Given the description of an element on the screen output the (x, y) to click on. 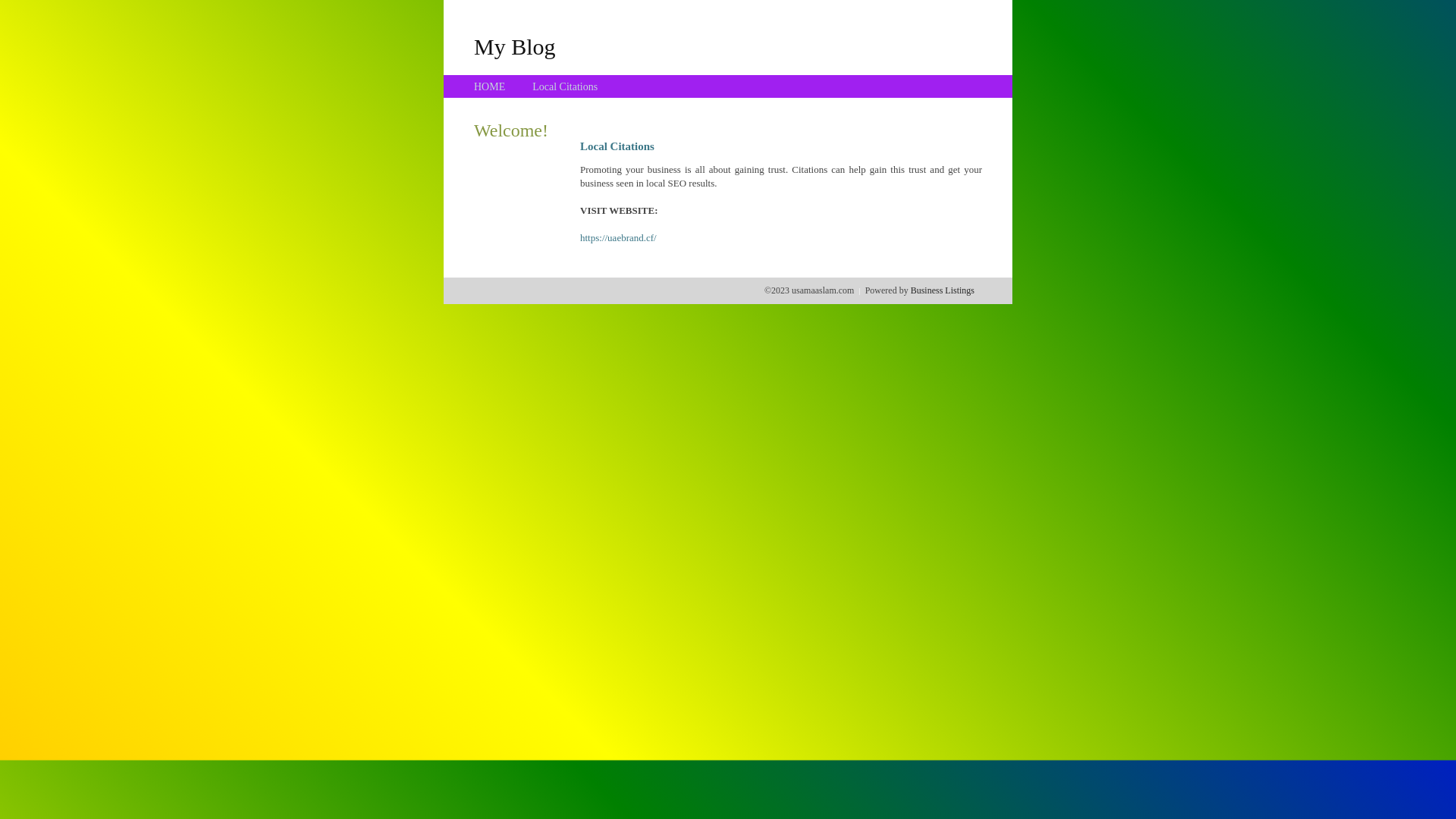
My Blog Element type: text (514, 46)
Local Citations Element type: text (564, 86)
Business Listings Element type: text (942, 290)
https://uaebrand.cf/ Element type: text (618, 237)
HOME Element type: text (489, 86)
